Given the description of an element on the screen output the (x, y) to click on. 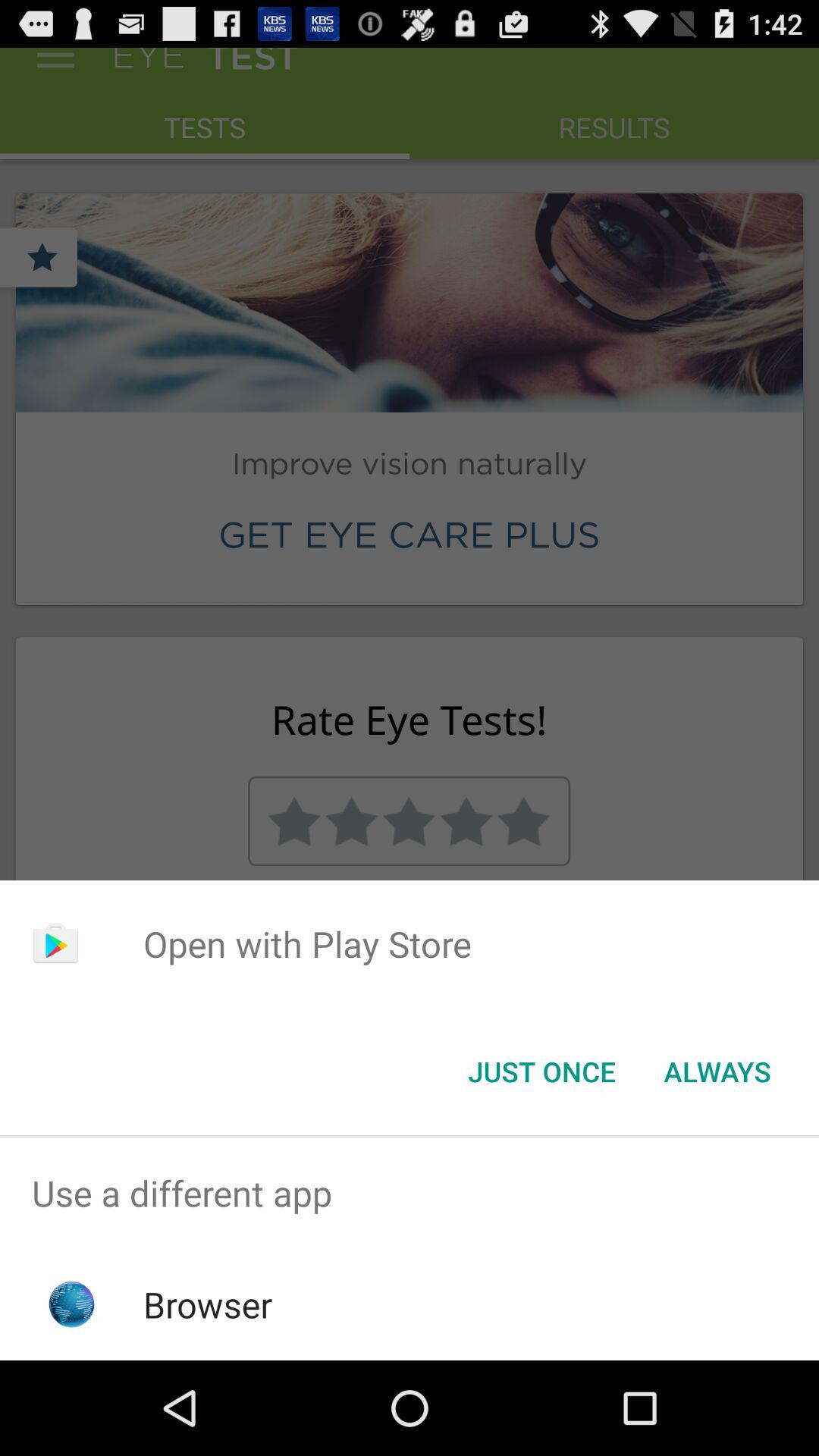
scroll to the just once (541, 1071)
